Given the description of an element on the screen output the (x, y) to click on. 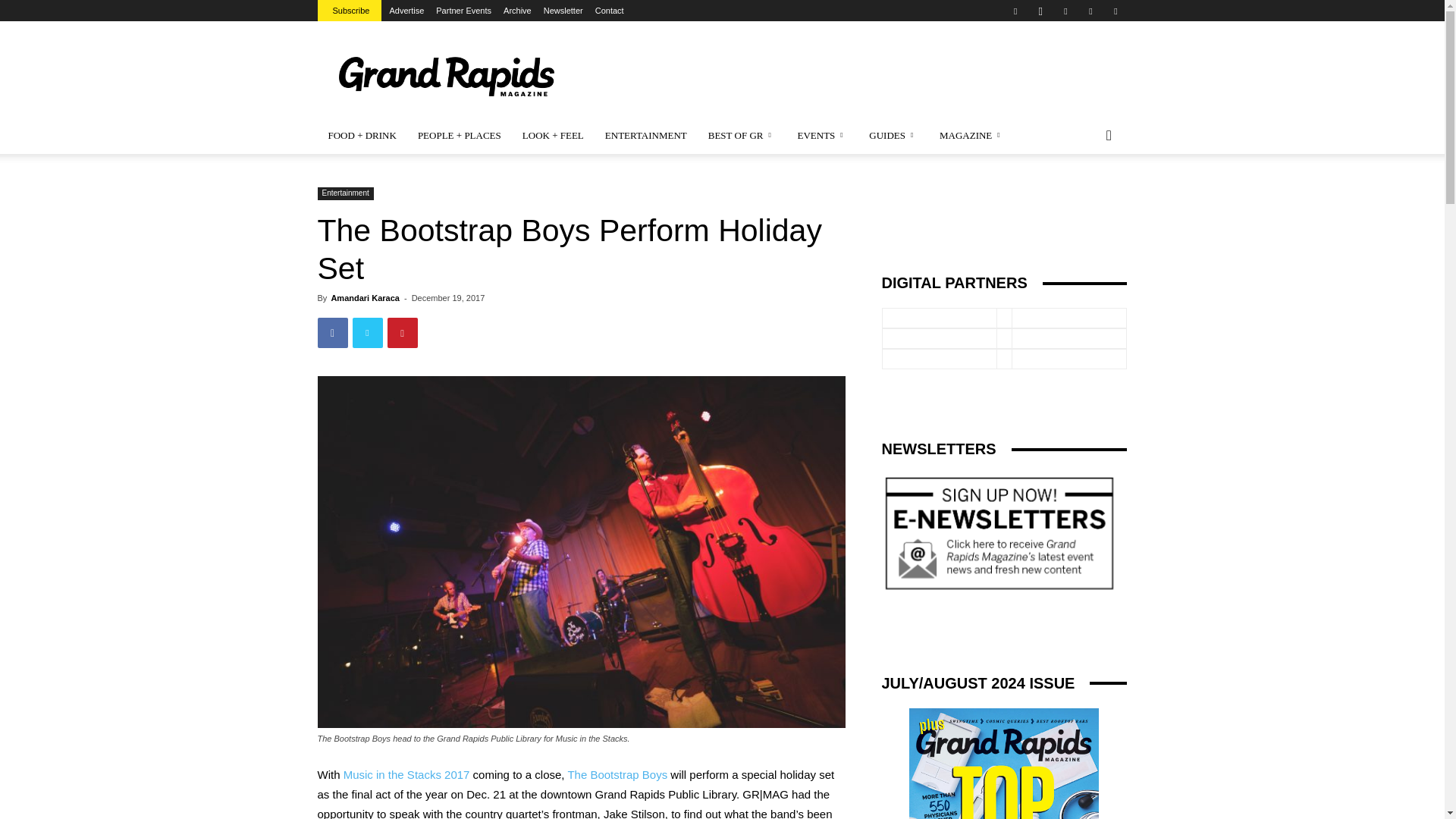
Posts by Amandari Karaca (364, 297)
Facebook (1015, 10)
Pinterest (1065, 10)
Instagram (1040, 10)
Youtube (1114, 10)
Twitter (1090, 10)
